Given the description of an element on the screen output the (x, y) to click on. 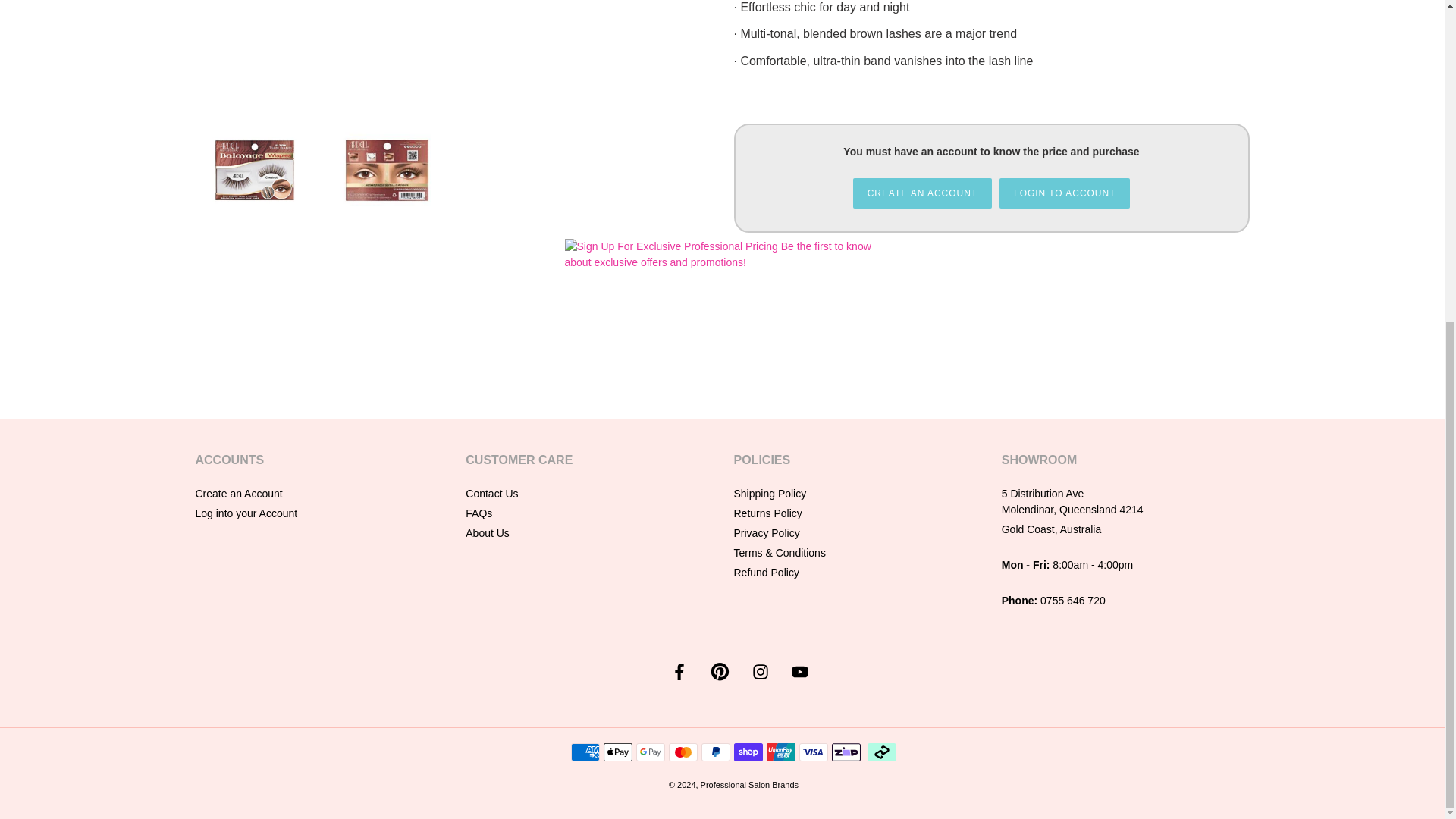
Union Pay (780, 751)
Shop Pay (747, 751)
Apple Pay (617, 751)
PayPal (715, 751)
Visa (813, 751)
Google Pay (650, 751)
American Express (584, 751)
Mastercard (682, 751)
Zip (845, 751)
Afterpay (881, 751)
